Given the description of an element on the screen output the (x, y) to click on. 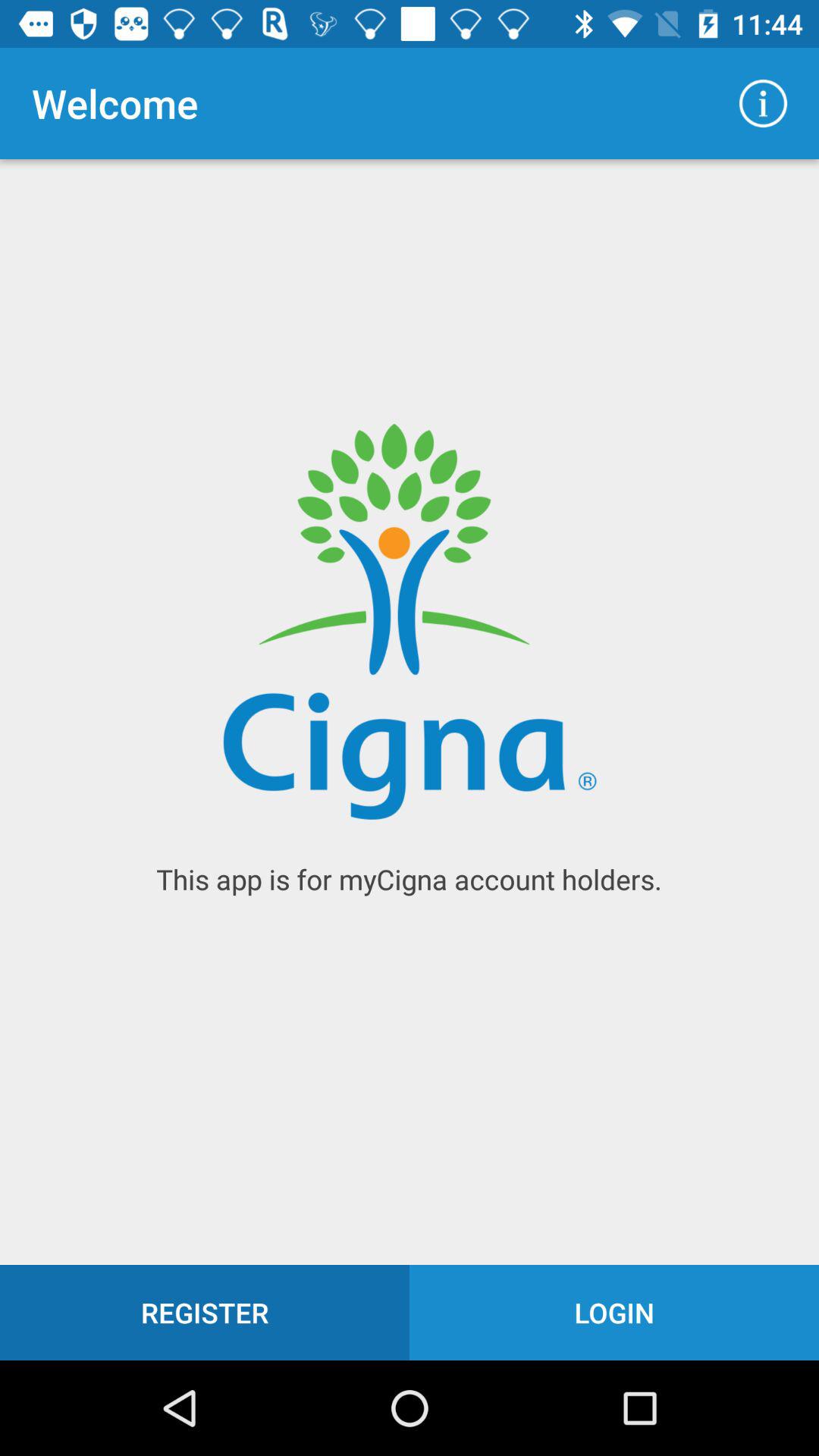
click icon next to the welcome icon (763, 103)
